Given the description of an element on the screen output the (x, y) to click on. 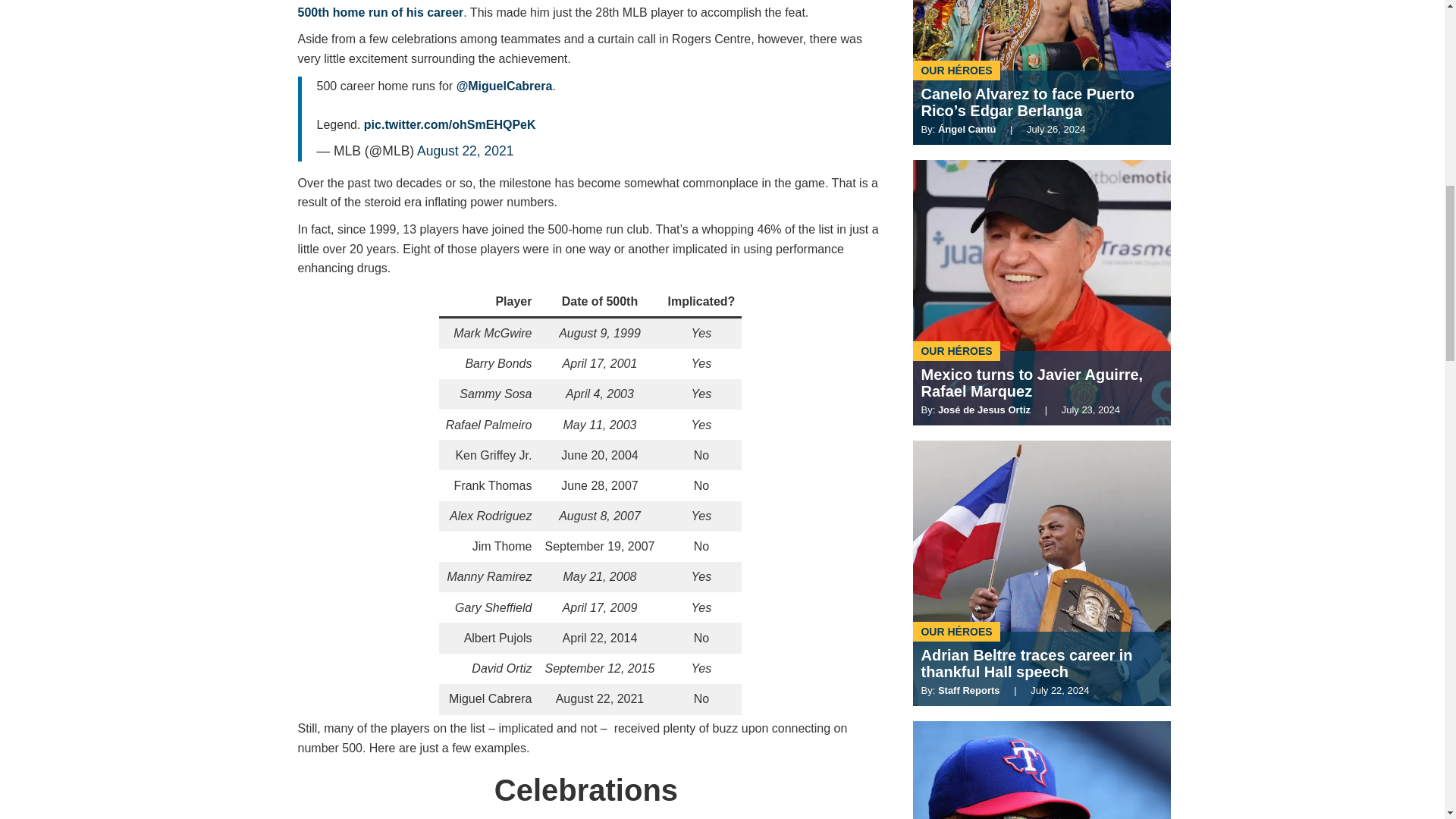
Mexico turns to Javier Aguirre, Rafael Marquez (1045, 382)
Adrian Beltre traces career in thankful Hall speech (1045, 663)
August 22, 2021 (464, 150)
